Given the description of an element on the screen output the (x, y) to click on. 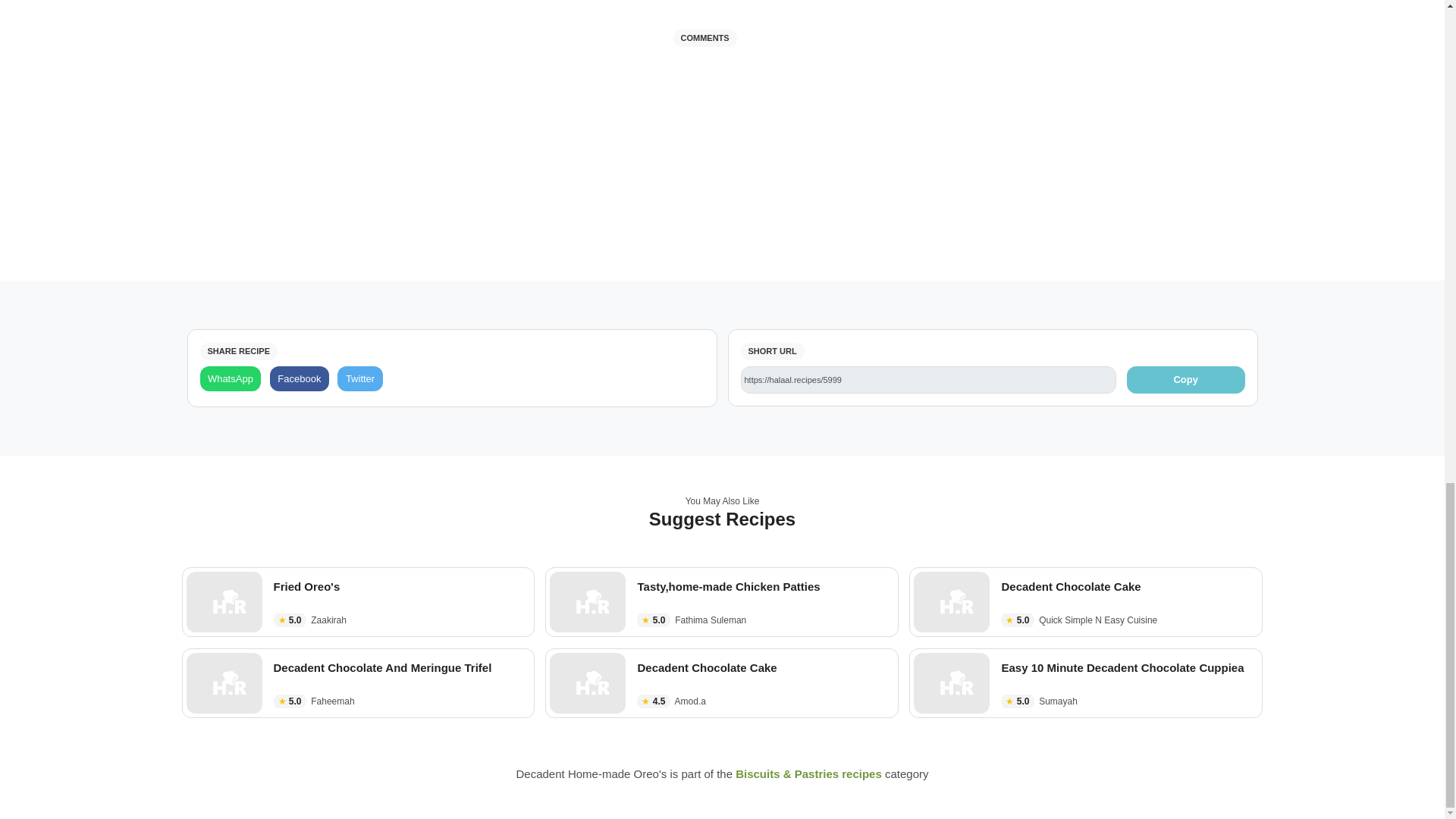
Copy (1185, 379)
Twitter (359, 378)
Facebook (299, 378)
WhatsApp (231, 378)
